Given the description of an element on the screen output the (x, y) to click on. 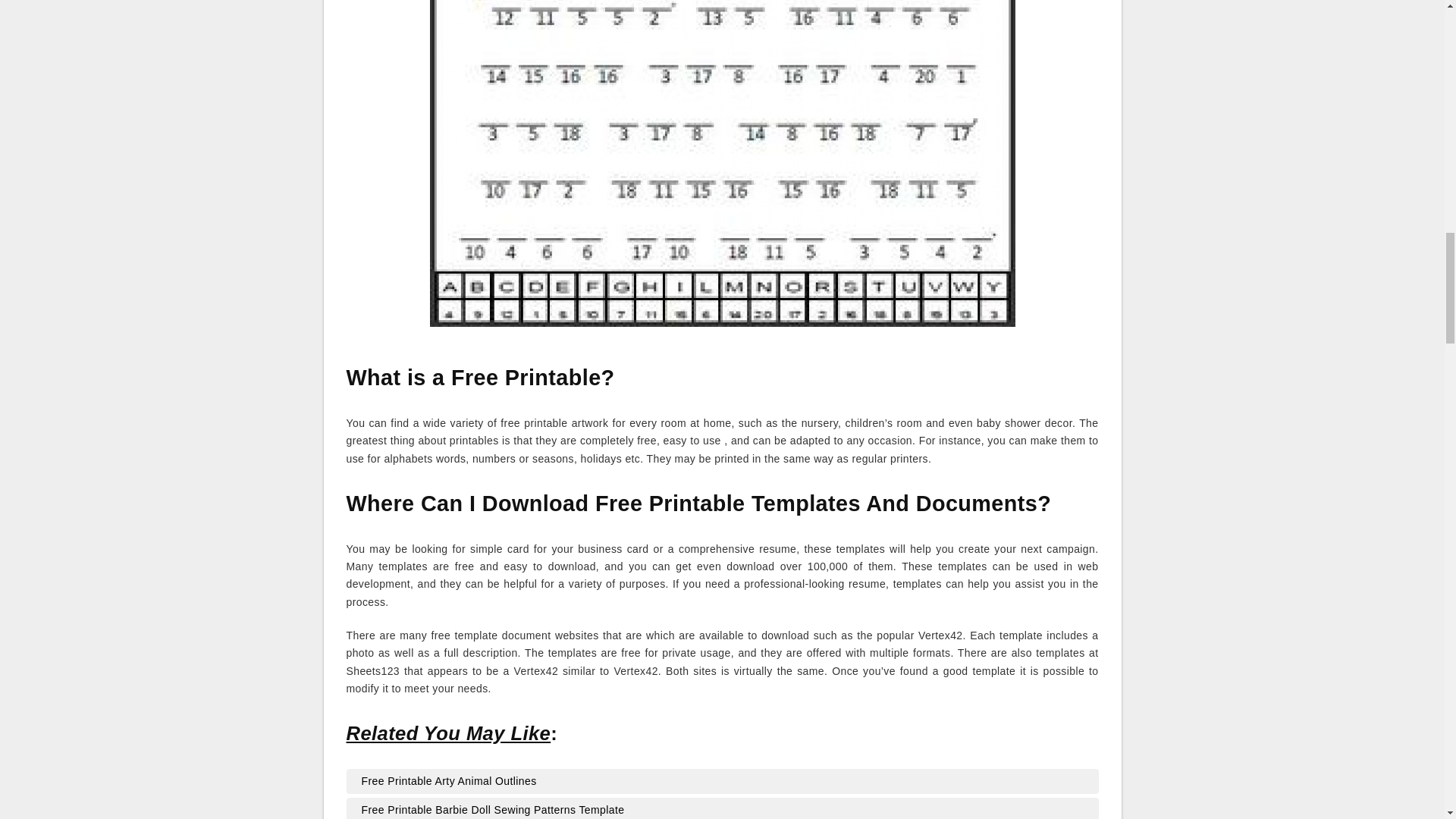
Free Printable Arty Animal Outlines (721, 781)
Free Printable Barbie Doll Sewing Patterns Template (721, 809)
